Given the description of an element on the screen output the (x, y) to click on. 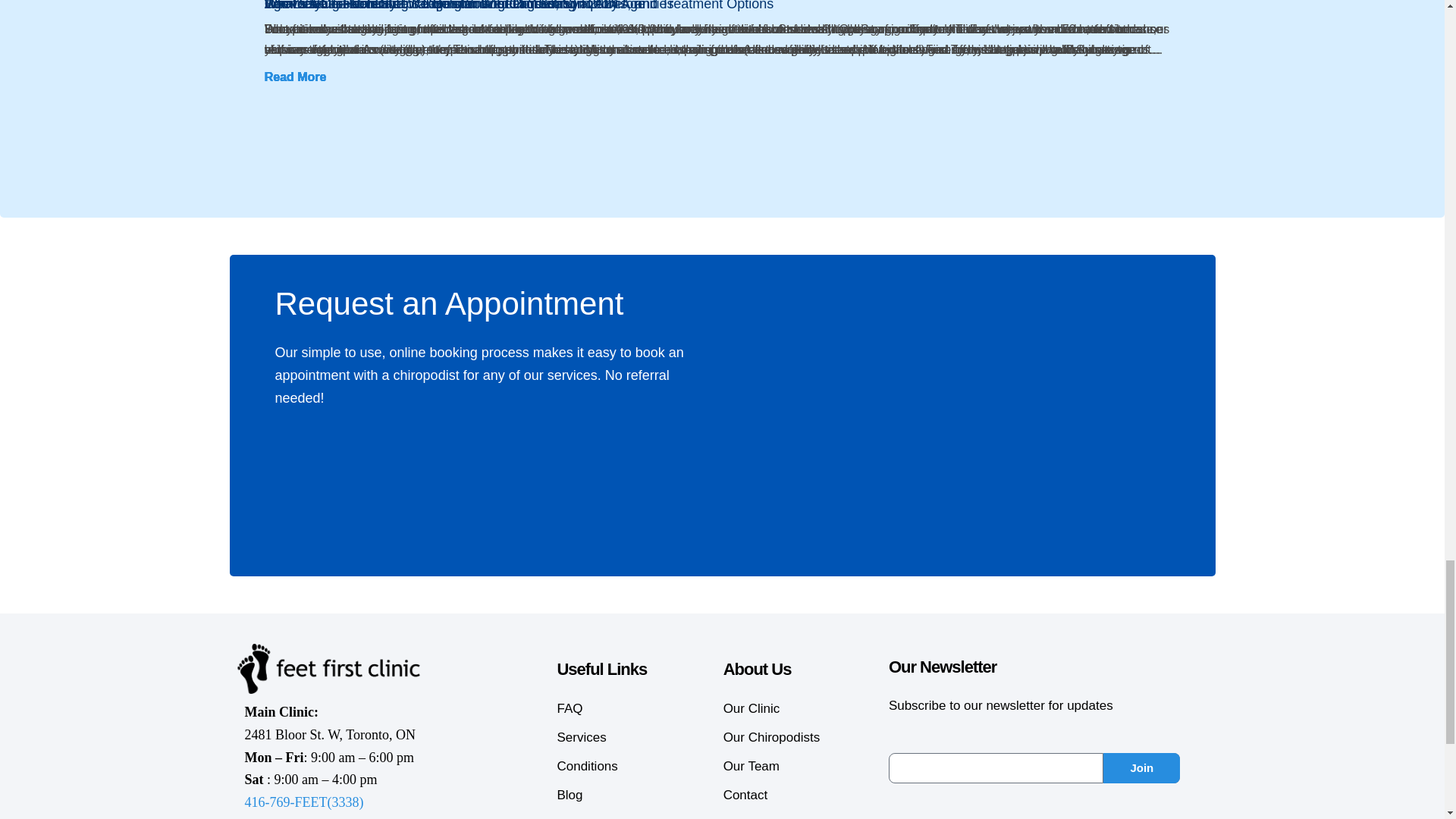
Feet First Clinic (327, 668)
